Given the description of an element on the screen output the (x, y) to click on. 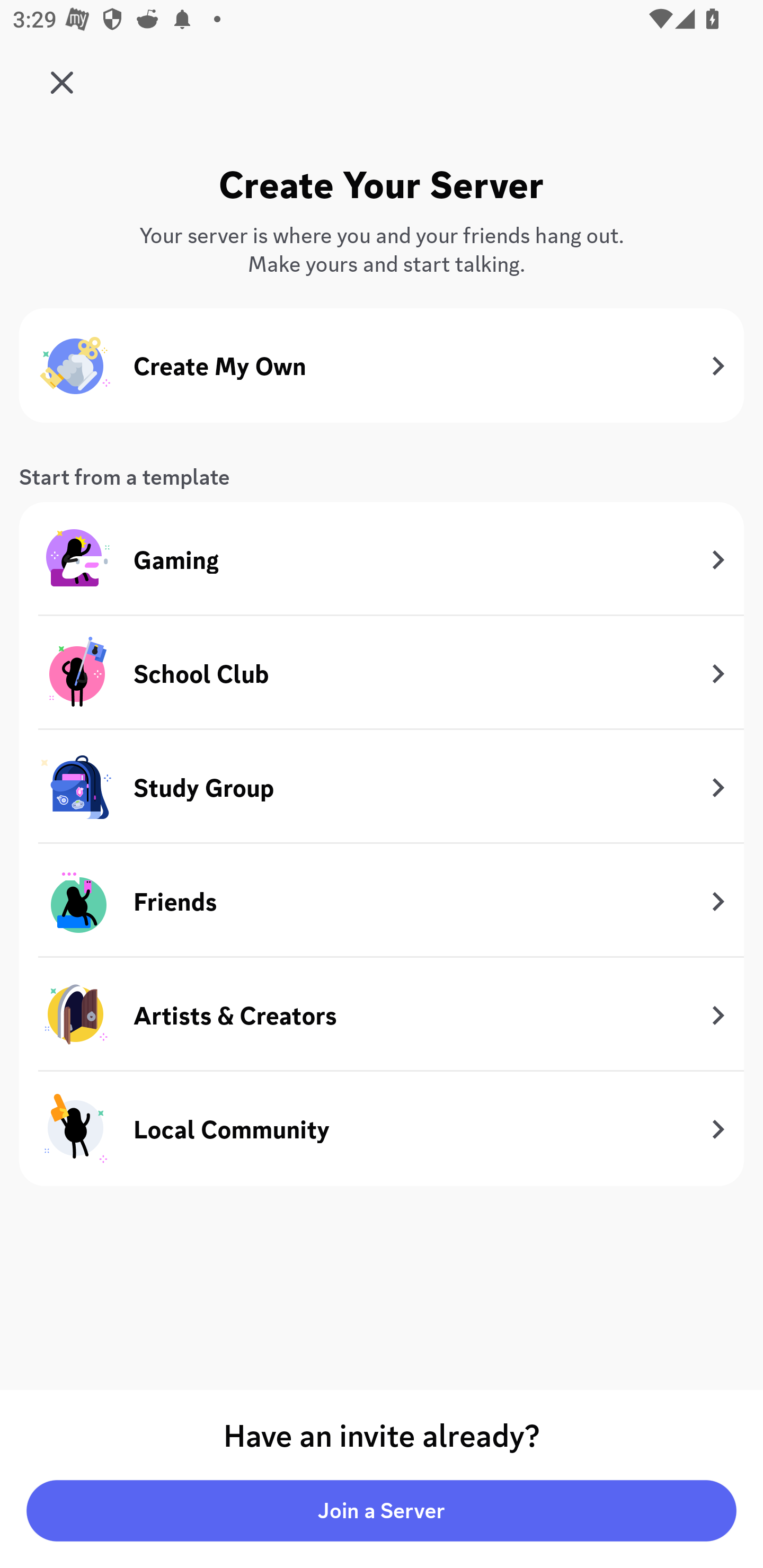
Add a Server (57, 75)
Create My Own (381, 365)
Gaming (381, 558)
School Club (381, 673)
Study Group (381, 787)
Friends (381, 900)
Artists & Creators (381, 1015)
Local Community (381, 1127)
Join a Server (381, 1510)
